Given the description of an element on the screen output the (x, y) to click on. 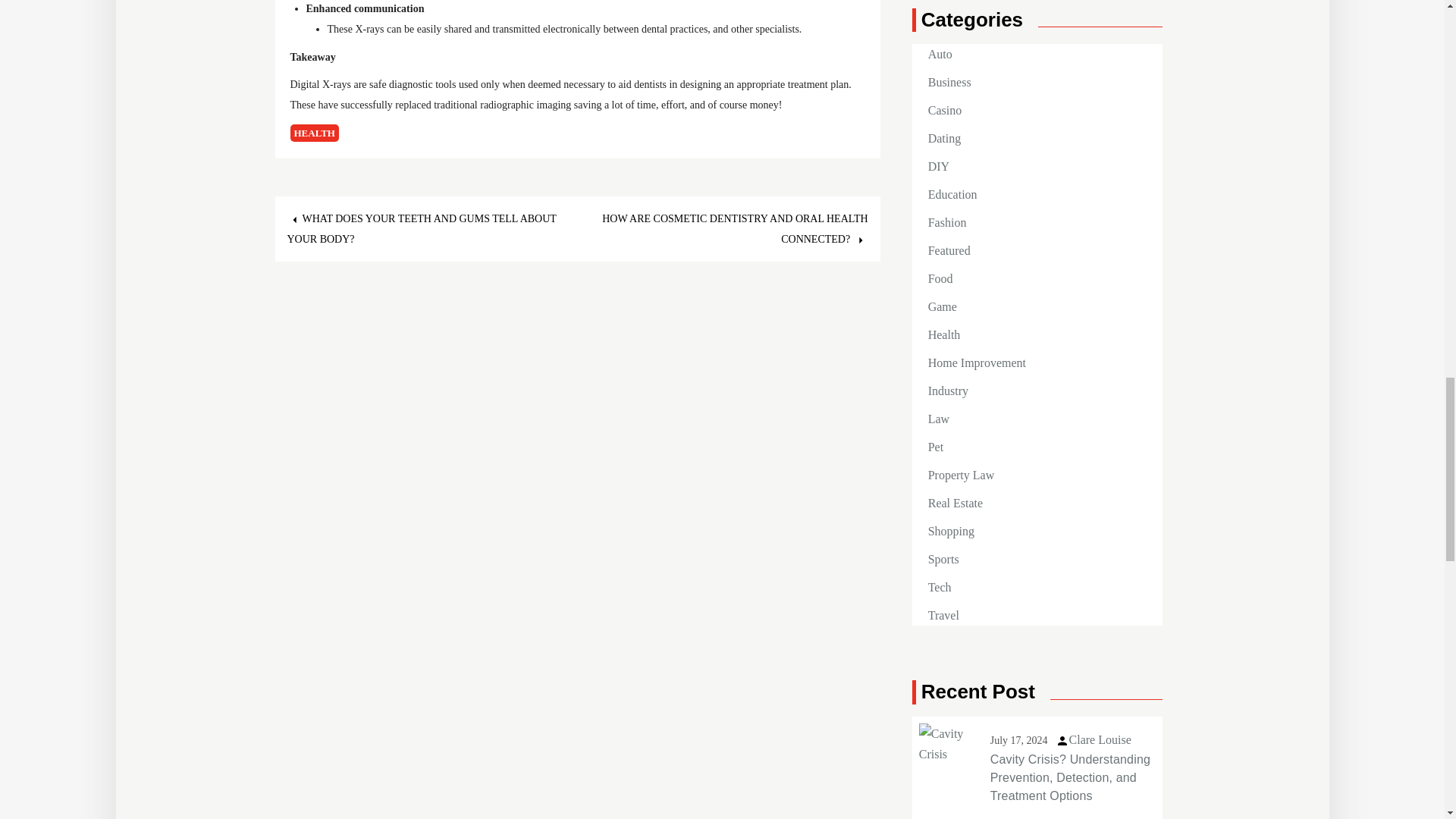
HEALTH (313, 132)
HOW ARE COSMETIC DENTISTRY AND ORAL HEALTH CONNECTED?  (734, 228)
WHAT DOES YOUR TEETH AND GUMS TELL ABOUT YOUR BODY?  (421, 228)
